Given the description of an element on the screen output the (x, y) to click on. 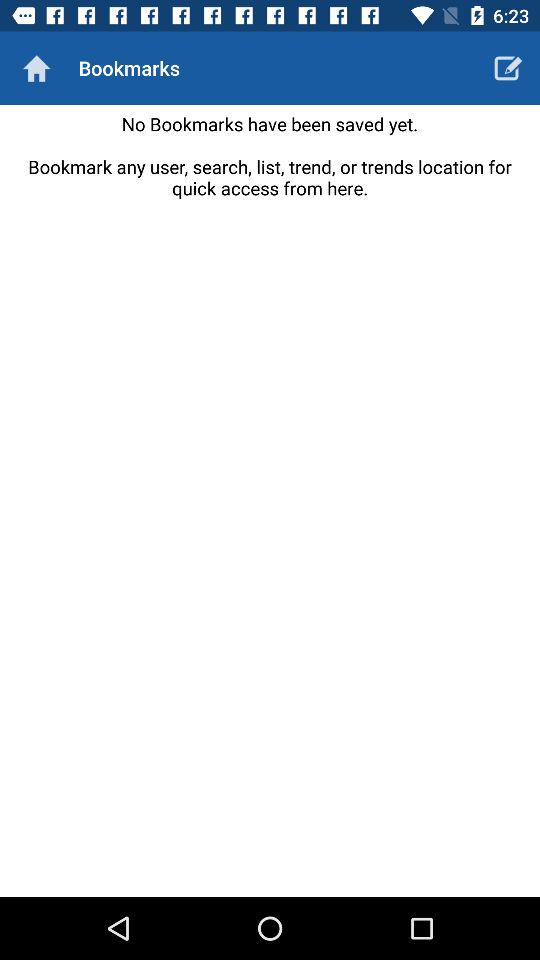
press item next to bookmarks (36, 68)
